Given the description of an element on the screen output the (x, y) to click on. 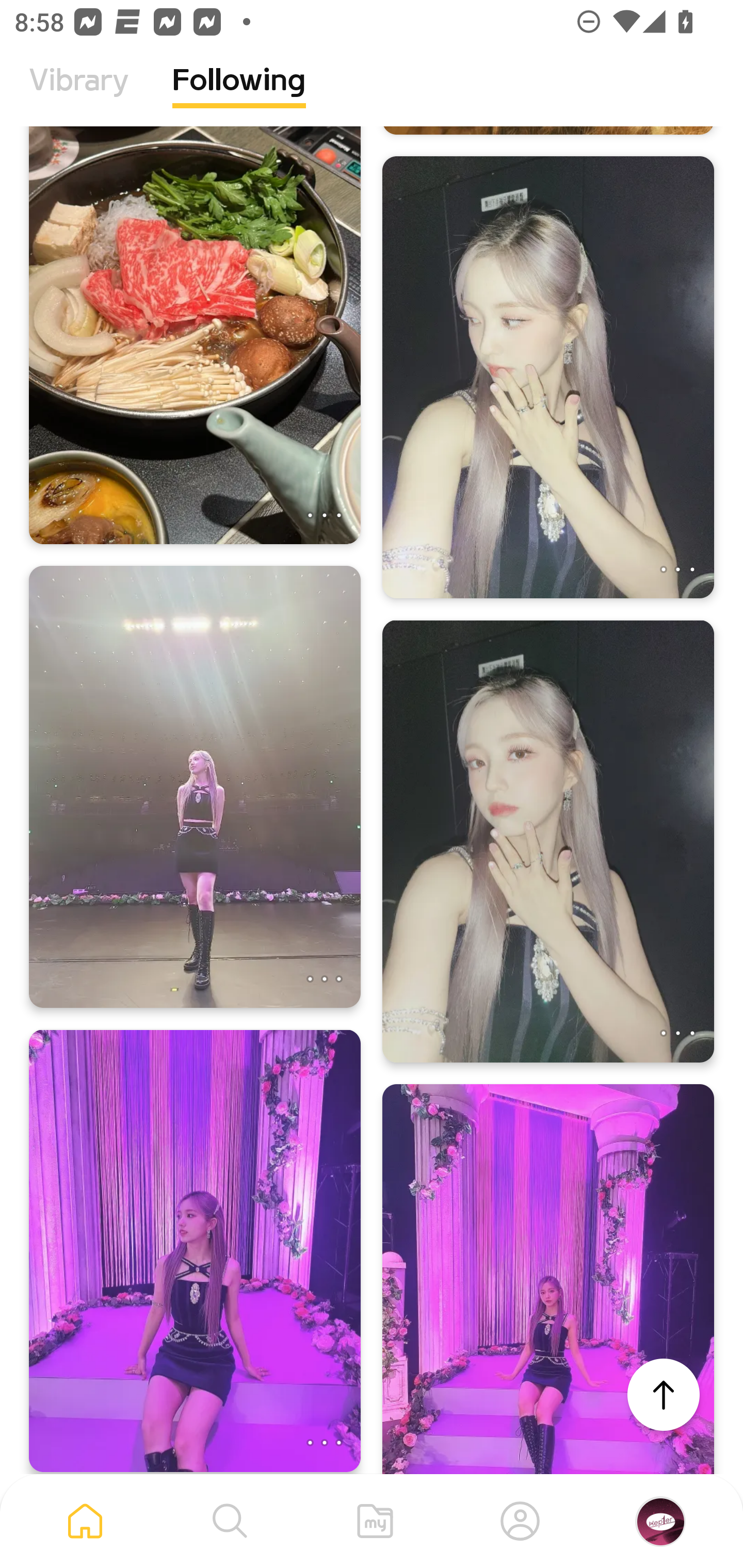
Vibrary (78, 95)
Following (239, 95)
